Given the description of an element on the screen output the (x, y) to click on. 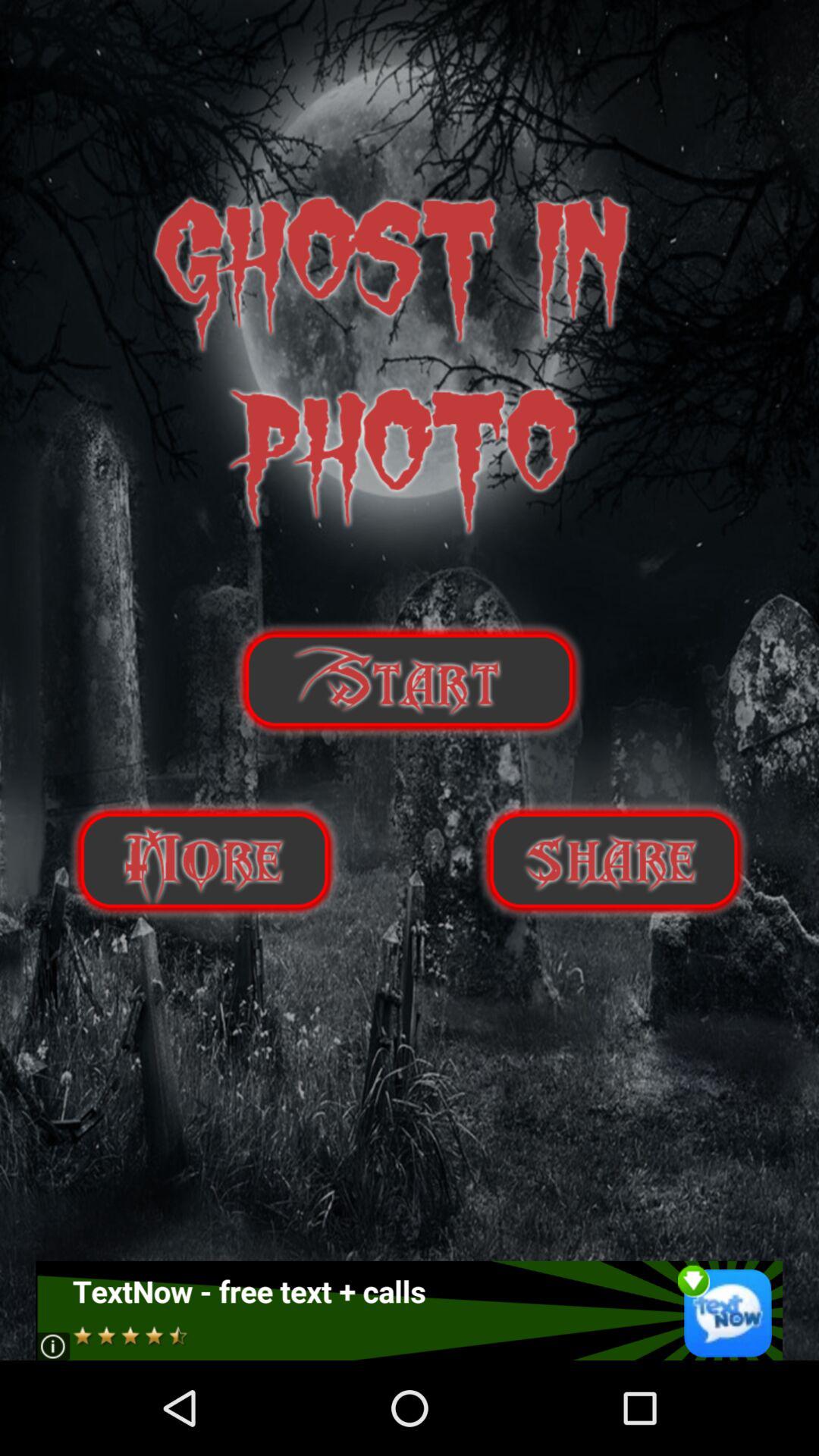
it shows the application for free calls and text (408, 1310)
